Given the description of an element on the screen output the (x, y) to click on. 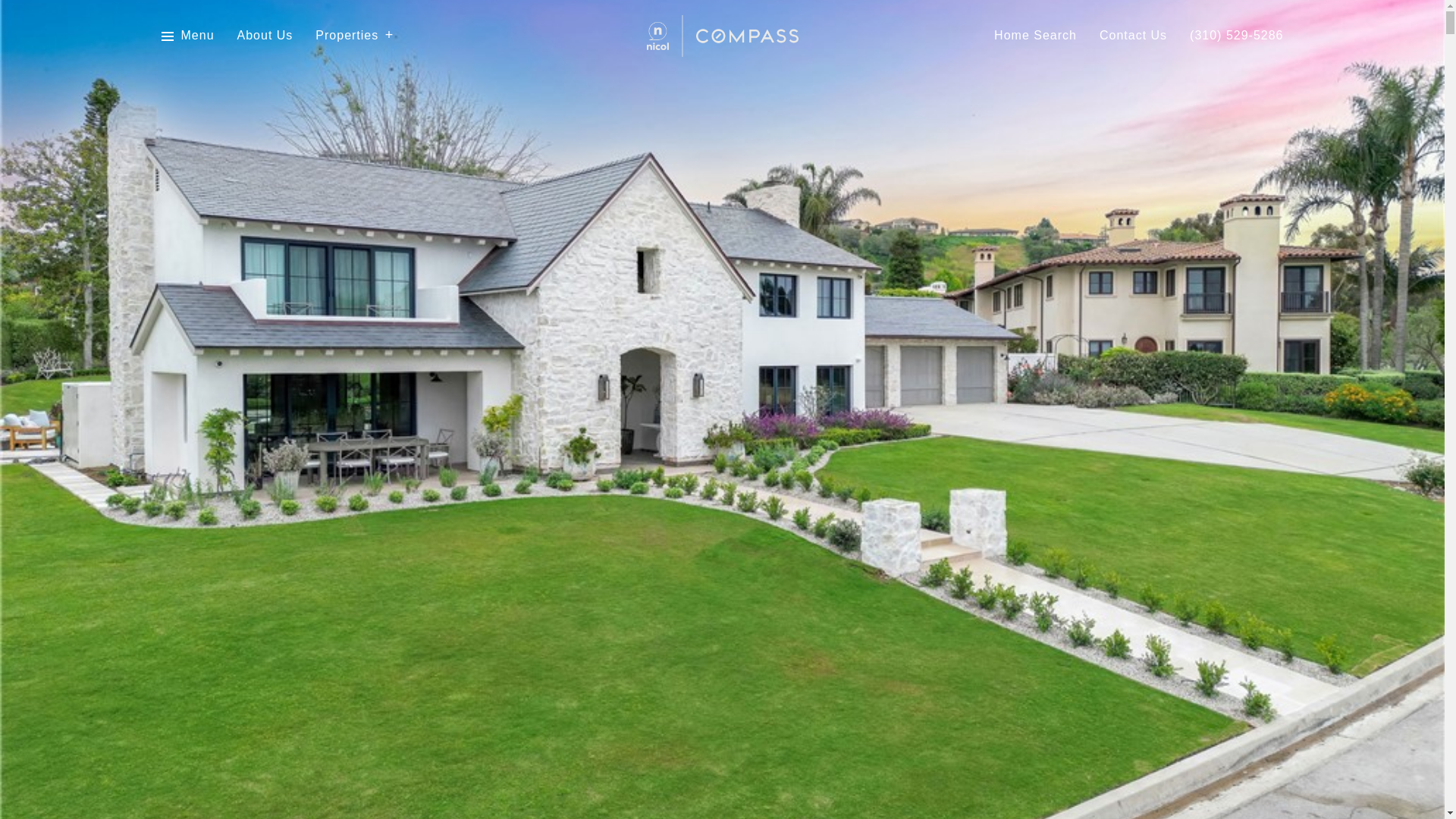
About Us (265, 35)
Menu (197, 35)
Properties (354, 35)
Home Search (1035, 35)
Menu (187, 35)
Contact Us (1133, 35)
